Given the description of an element on the screen output the (x, y) to click on. 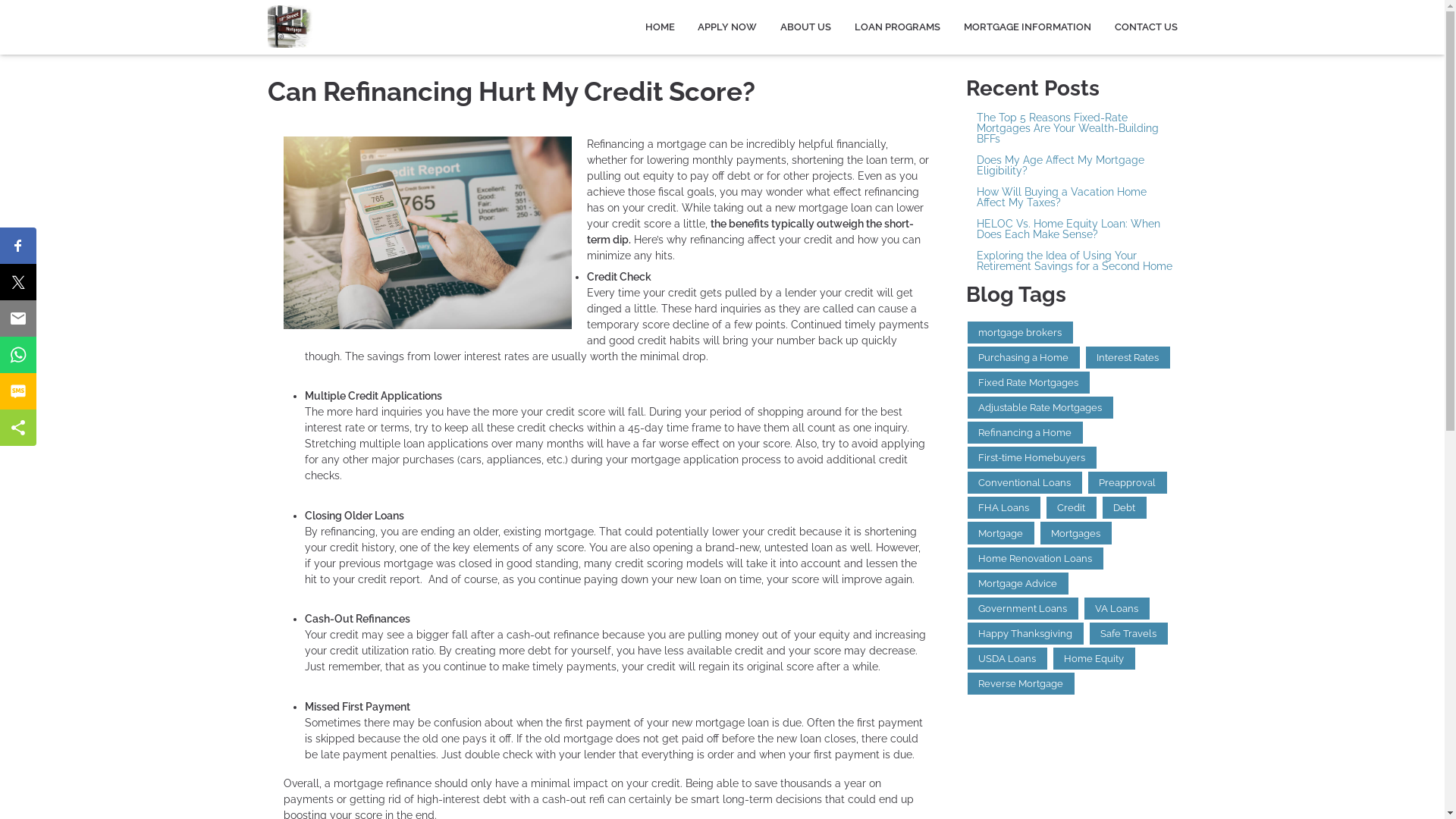
VA Loans Element type: text (1116, 608)
MORTGAGE INFORMATION Element type: text (1026, 27)
ABOUT US Element type: text (805, 27)
Fixed Rate Mortgages Element type: text (1028, 382)
Purchasing a Home Element type: text (1023, 357)
Does My Age Affect My Mortgage Eligibility? Element type: text (1071, 164)
FHA Loans Element type: text (1003, 507)
Credit Element type: text (1071, 507)
Government Loans Element type: text (1022, 608)
First-time Homebuyers Element type: text (1031, 457)
APPLY NOW Element type: text (727, 27)
Preapproval Element type: text (1127, 482)
Refinancing a Home Element type: text (1024, 432)
Mortgage Element type: text (1000, 532)
Home Renovation Loans Element type: text (1035, 558)
Conventional Loans Element type: text (1024, 482)
Happy Thanksgiving Element type: text (1025, 633)
How Will Buying a Vacation Home Affect My Taxes? Element type: text (1071, 196)
Safe Travels Element type: text (1128, 633)
Interest Rates Element type: text (1127, 357)
USDA Loans Element type: text (1007, 658)
Reverse Mortgage Element type: text (1020, 683)
Mortgage Advice Element type: text (1017, 583)
CONTACT US Element type: text (1139, 27)
HOME Element type: text (659, 27)
Debt Element type: text (1124, 507)
Mortgages Element type: text (1075, 532)
Home Equity Element type: text (1094, 658)
mortgage brokers Element type: text (1020, 332)
Adjustable Rate Mortgages Element type: text (1040, 407)
HELOC Vs. Home Equity Loan: When Does Each Make Sense? Element type: text (1071, 228)
LOAN PROGRAMS Element type: text (897, 27)
